Given the description of an element on the screen output the (x, y) to click on. 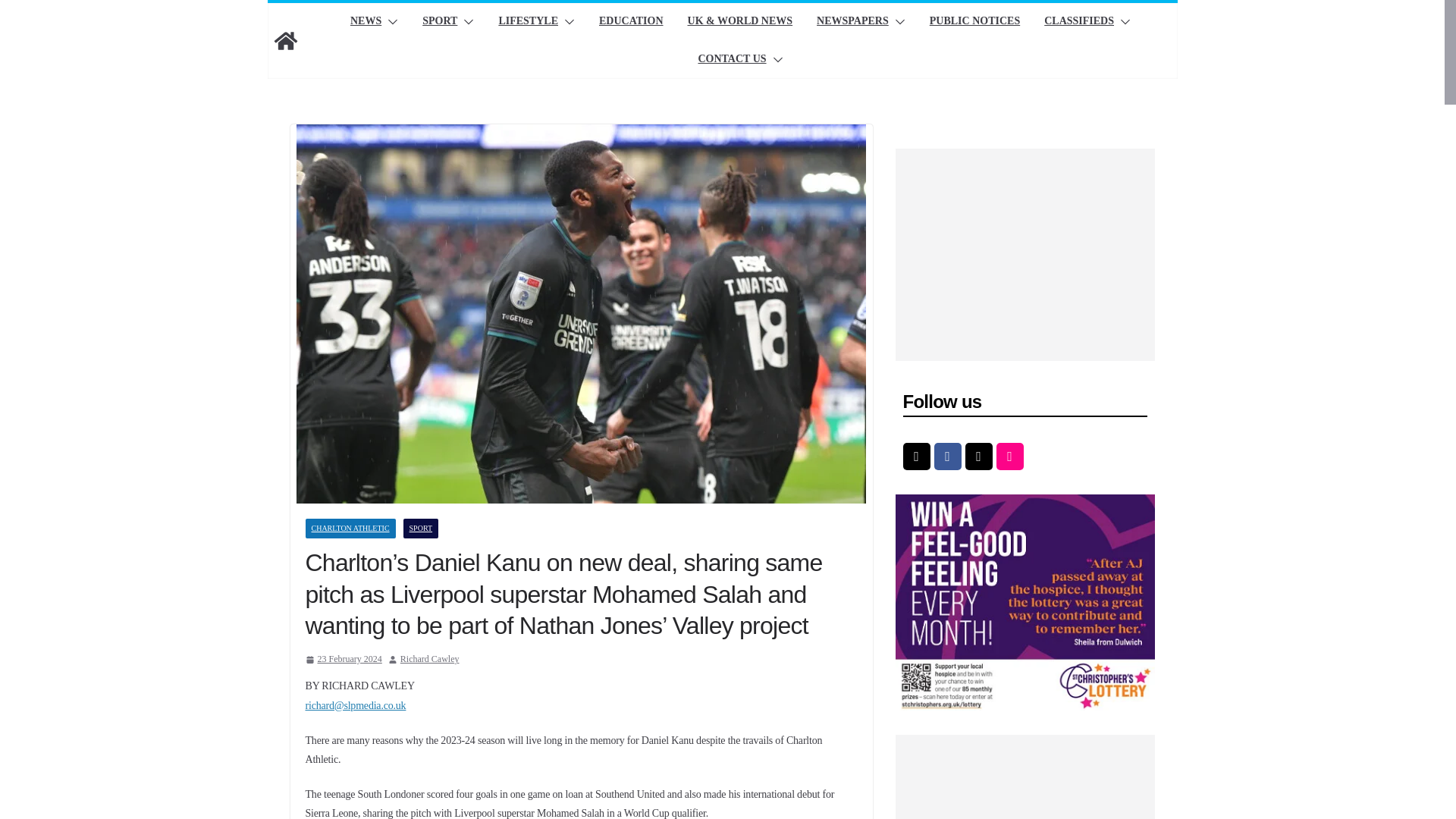
LIFESTYLE (527, 21)
SPORT (439, 21)
10:00 (342, 659)
Richard Cawley (430, 659)
South London News (284, 40)
NEWS (365, 21)
